Given the description of an element on the screen output the (x, y) to click on. 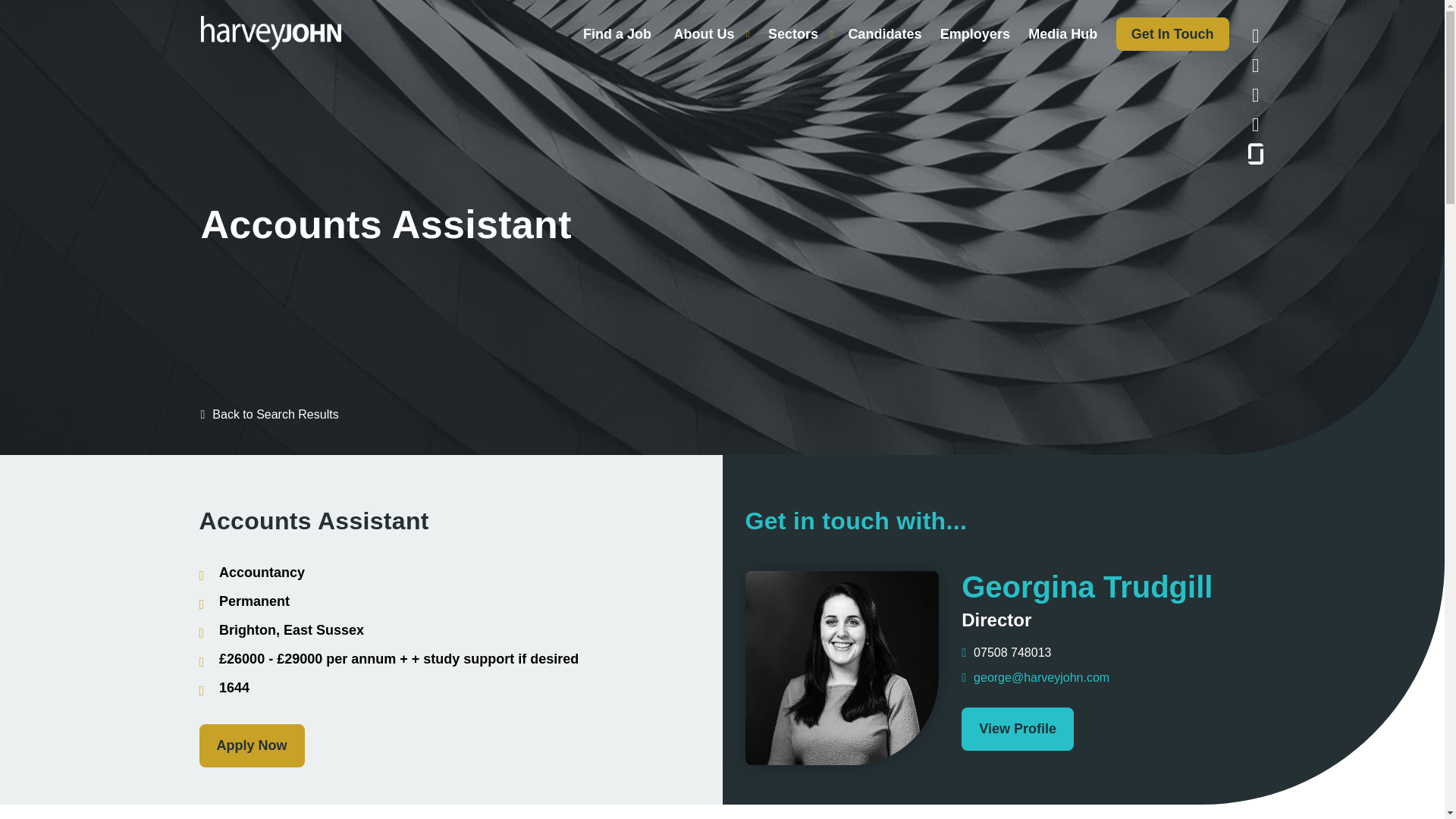
Get In Touch (1172, 33)
Employers (975, 33)
Sectors (793, 33)
Find a Job (616, 33)
About Us (702, 33)
Media Hub (1062, 33)
Candidates (884, 33)
